Given the description of an element on the screen output the (x, y) to click on. 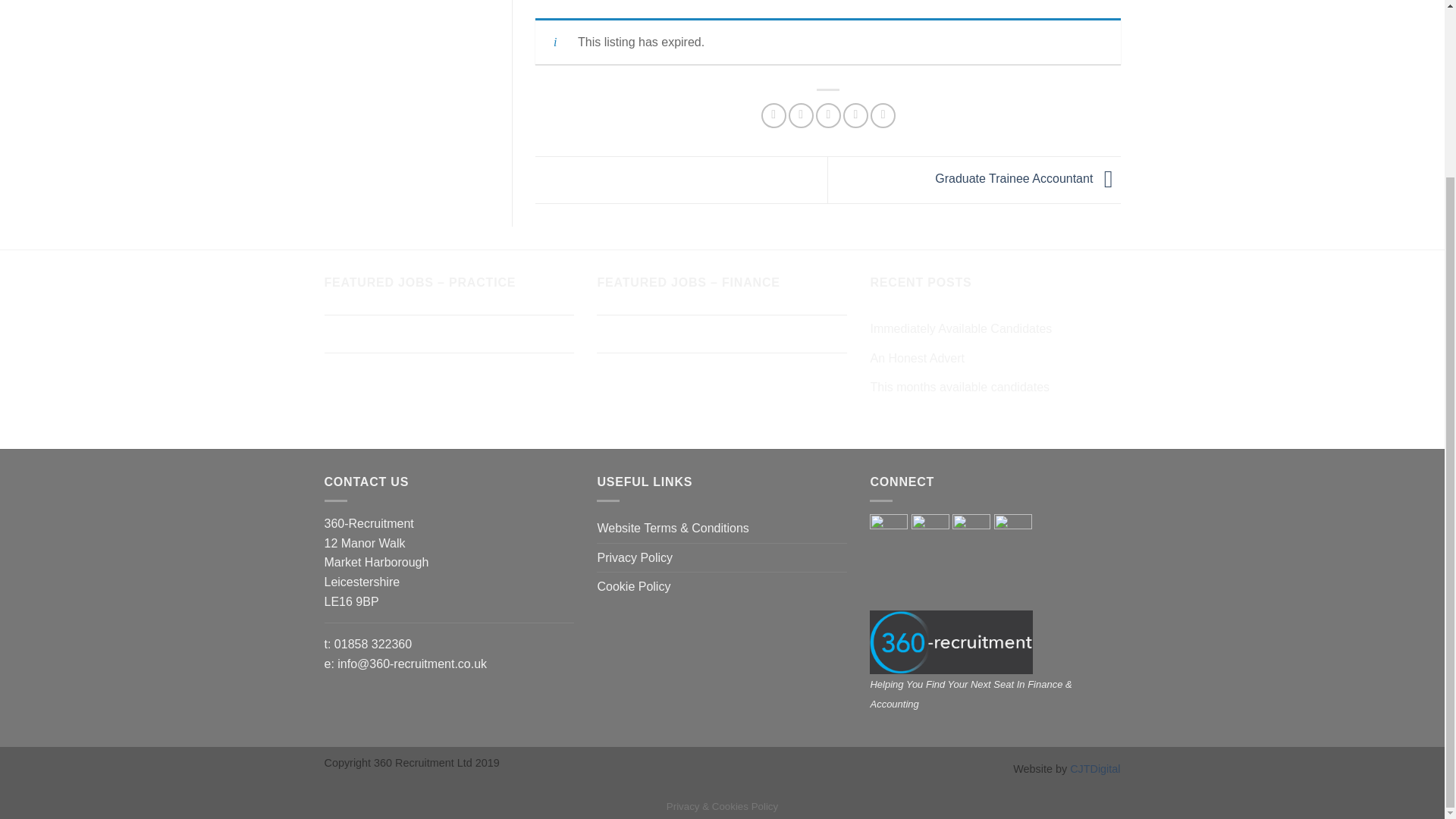
Immediately Available Candidates (960, 328)
Management Accountant (721, 411)
Graduate Trainee Accountant (1026, 178)
An Honest Advert (916, 358)
Trainee Accountant (721, 372)
Pin on Pinterest (855, 115)
Share on Twitter (801, 115)
US Corporate Tax Manager (449, 333)
Cookie Policy (632, 586)
Assistant Accountant (721, 333)
